Given the description of an element on the screen output the (x, y) to click on. 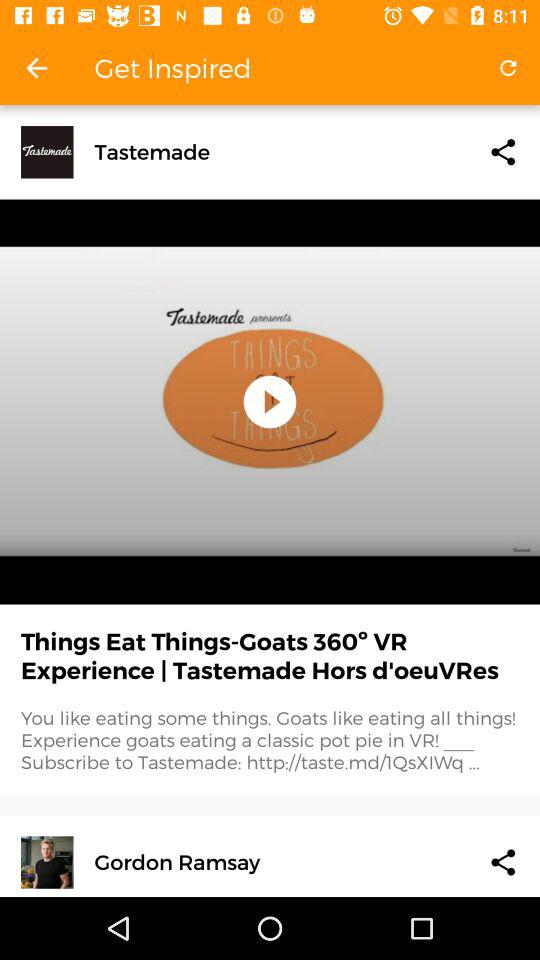
turn on item above tastemade (508, 67)
